Given the description of an element on the screen output the (x, y) to click on. 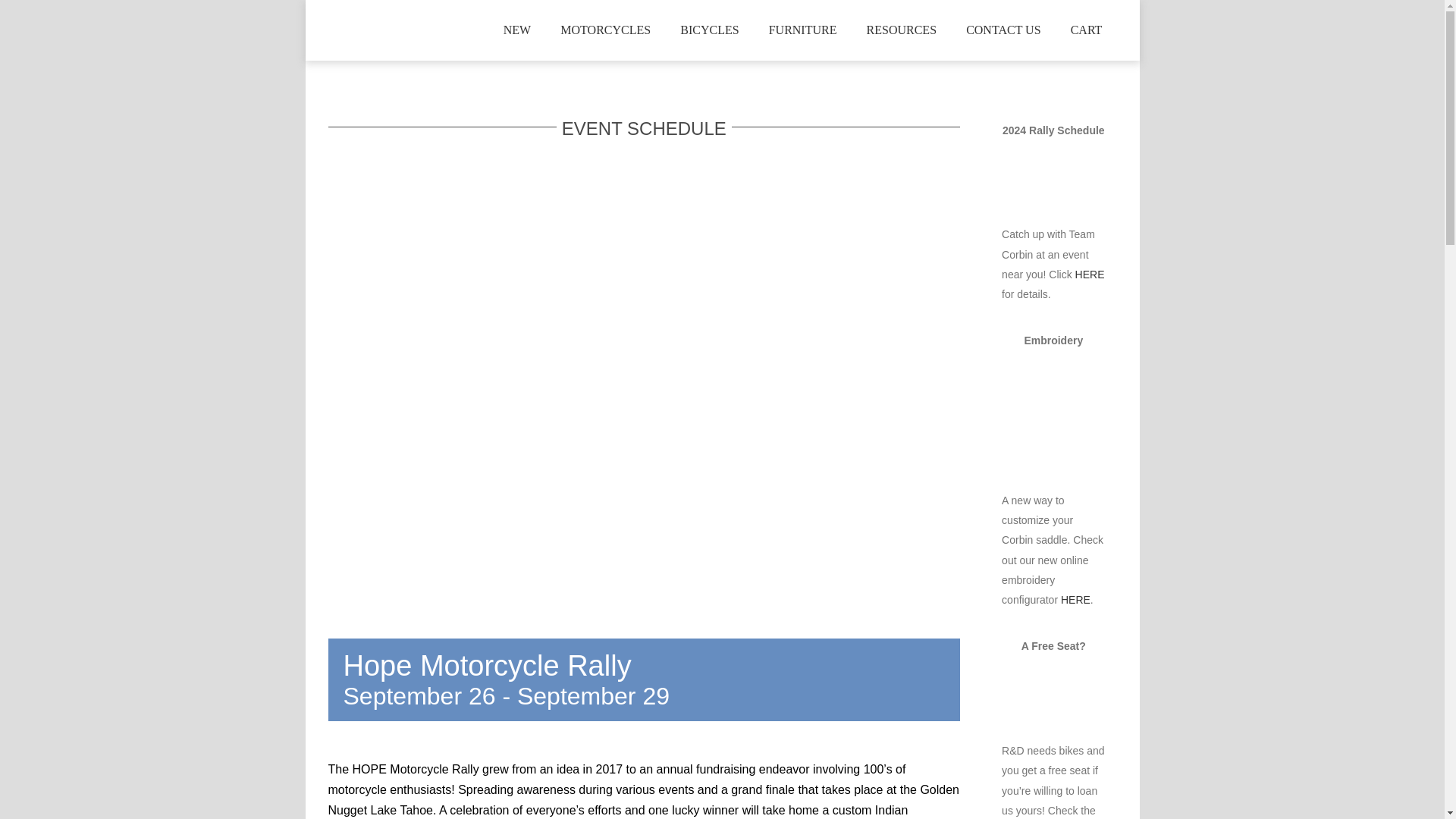
MOTORCYCLES (721, 30)
NEW (605, 29)
